Given the description of an element on the screen output the (x, y) to click on. 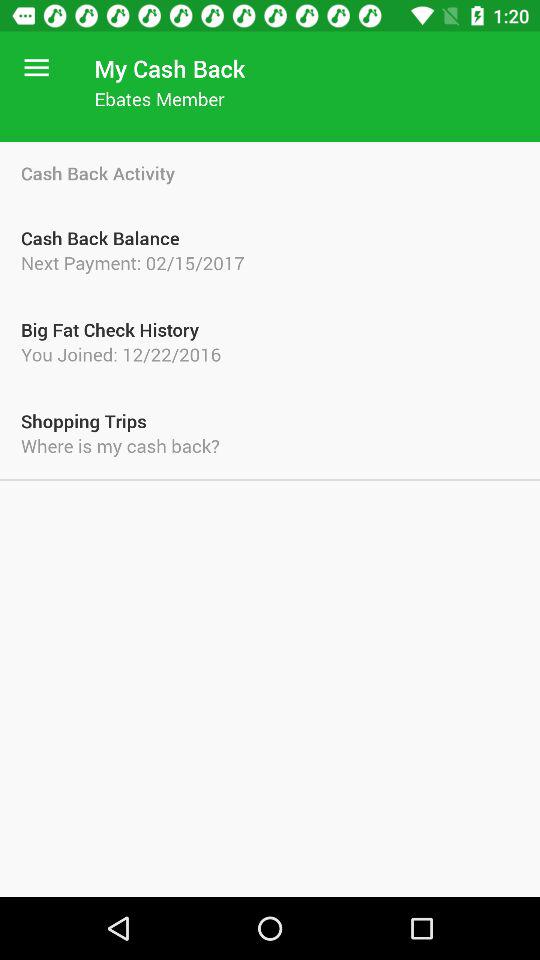
click the icon to the left of my cash back item (36, 68)
